Given the description of an element on the screen output the (x, y) to click on. 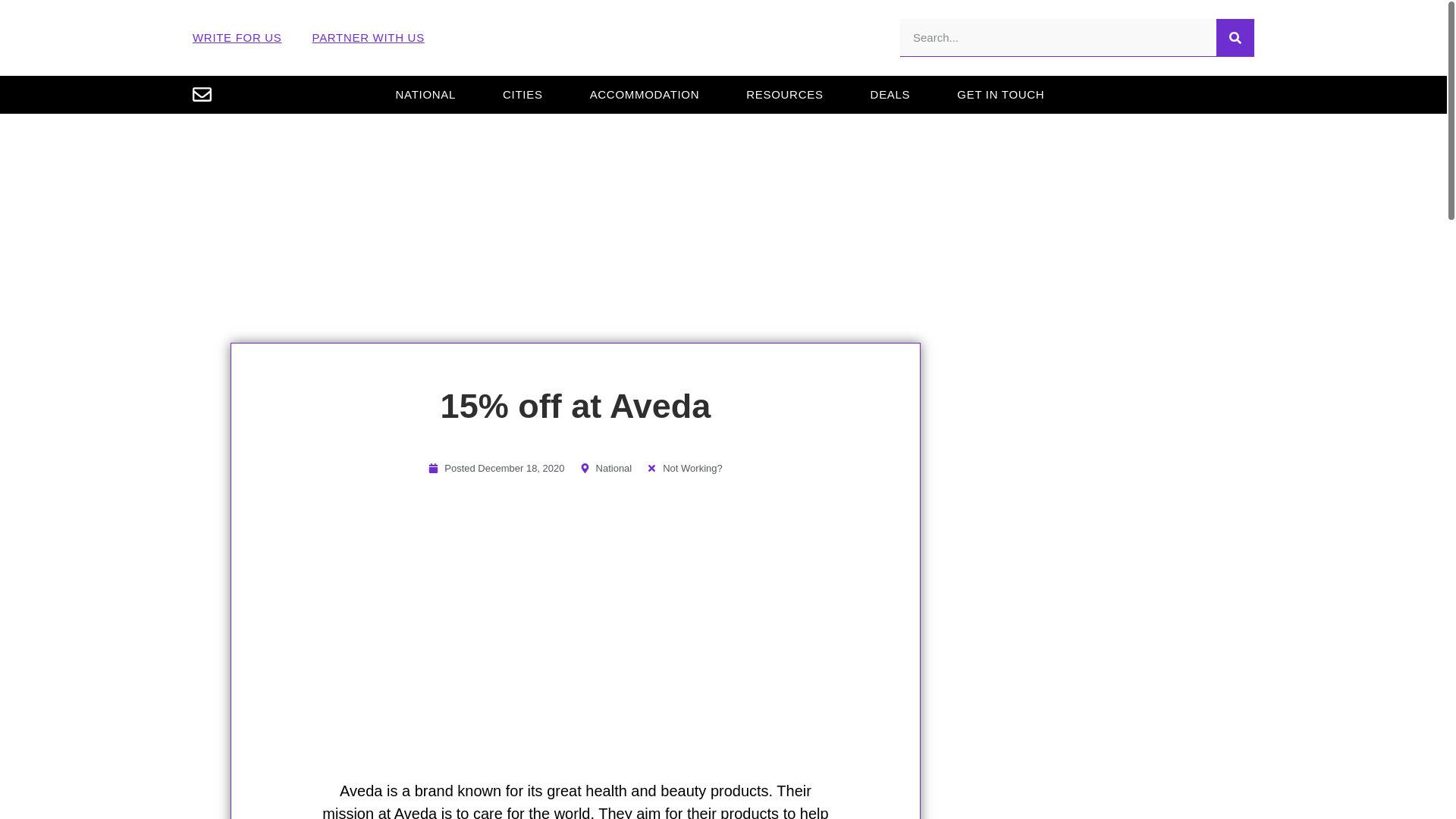
NATIONAL (425, 94)
Unifresher (723, 38)
WRITE FOR US (237, 37)
RESOURCES (784, 94)
ACCOMMODATION (644, 94)
CITIES (523, 94)
PARTNER WITH US (369, 37)
